Given the description of an element on the screen output the (x, y) to click on. 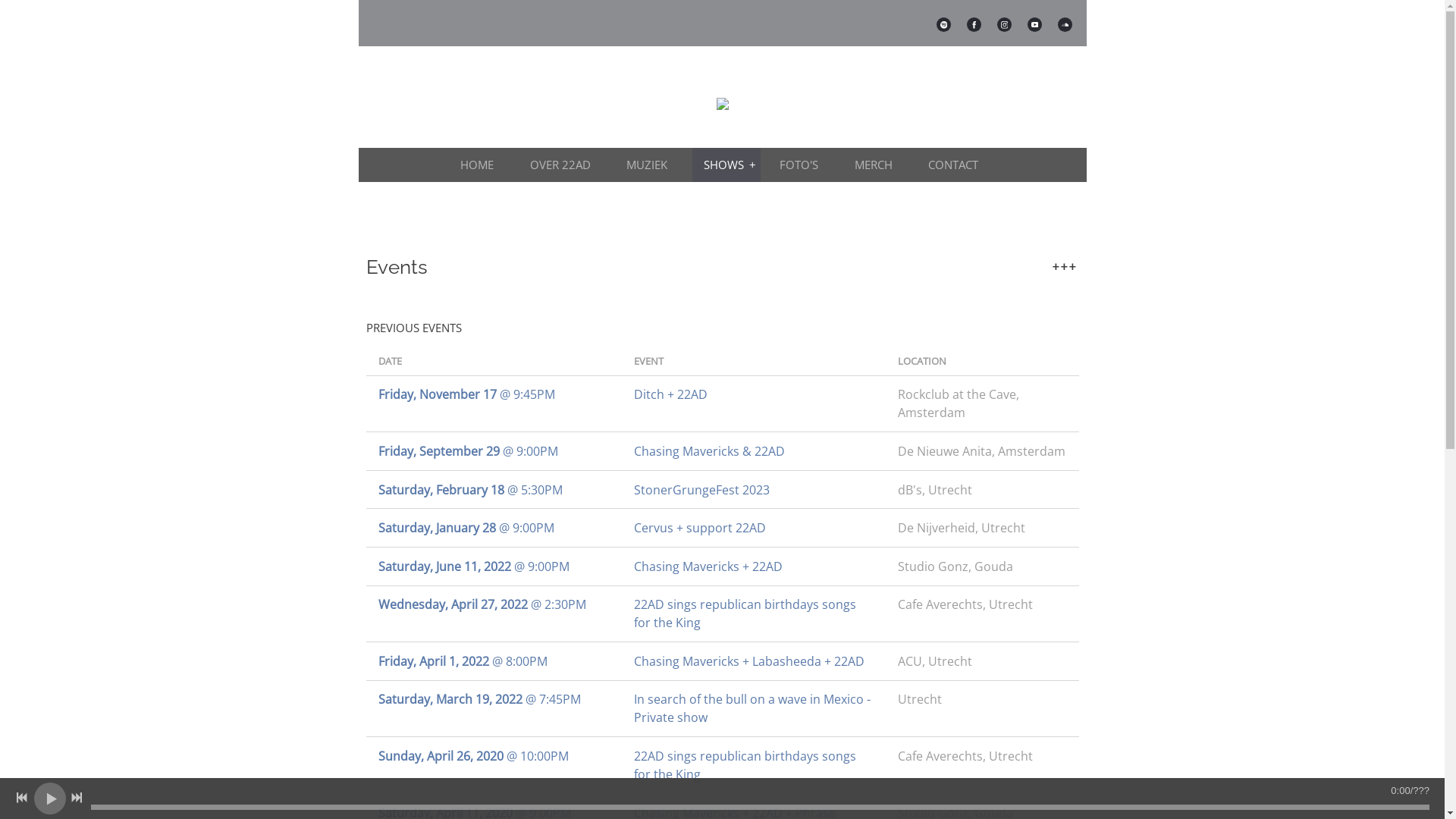
StonerGrungeFest 2023 Element type: text (753, 489)
Cafe Averechts, Utrecht Element type: text (981, 604)
Saturday, February 18 @ 5:30PM Element type: text (492, 489)
De Nieuwe Anita, Amsterdam Element type: text (981, 451)
HOME Element type: text (479, 164)
22AD sings republican birthdays songs for the King Element type: text (753, 764)
Friday, April 1, 2022 @ 8:00PM Element type: text (492, 661)
De Nijverheid, Utrecht Element type: text (981, 527)
Saturday, June 11, 2022 @ 9:00PM Element type: text (492, 566)
OVER 22AD Element type: text (563, 164)
Utrecht Element type: text (981, 699)
dB's, Utrecht Element type: text (981, 489)
Saturday, January 28 @ 9:00PM Element type: text (492, 527)
22AD sings republican birthdays songs for the King Element type: text (753, 613)
Previous track Element type: hover (21, 797)
Chasing Mavericks + Labasheeda + 22AD Element type: text (753, 661)
http://soundcloud.com/22-ad Element type: hover (1064, 24)
Chasing Mavericks + 22AD Element type: text (753, 566)
Friday, September 29 @ 9:00PM Element type: text (492, 451)
Sunday, April 26, 2020 @ 10:00PM Element type: text (492, 755)
http://www.facebook.com/22admusic Element type: hover (973, 24)
Saturday, March 19, 2022 @ 7:45PM Element type: text (492, 699)
In search of the bull on a wave in Mexico - Private show Element type: text (753, 708)
Cervus + support 22AD Element type: text (753, 527)
CONTACT Element type: text (955, 164)
Next track Element type: hover (76, 797)
Friday, November 17 @ 9:45PM Element type: text (492, 394)
https://www.youtube.com/@22admusic Element type: hover (1034, 24)
SHOWS Element type: text (726, 164)
ACU, Utrecht Element type: text (981, 661)
Wednesday, April 27, 2022 @ 2:30PM Element type: text (492, 604)
http://instagram.com/22admusic Element type: hover (1004, 24)
Studio Gonz, Gouda Element type: text (981, 566)
MERCH Element type: text (876, 164)
https://open.spotify.com/artist/2FCCDVg1tUNEVfIq6Oopoo Element type: hover (943, 24)
Ditch + 22AD Element type: text (753, 394)
MUZIEK Element type: text (649, 164)
Play Element type: hover (49, 797)
FOTO'S Element type: text (801, 164)
Cafe Averechts, Utrecht Element type: text (981, 755)
Chasing Mavericks & 22AD Element type: text (753, 451)
Rockclub at the Cave, Amsterdam Element type: text (981, 403)
